Given the description of an element on the screen output the (x, y) to click on. 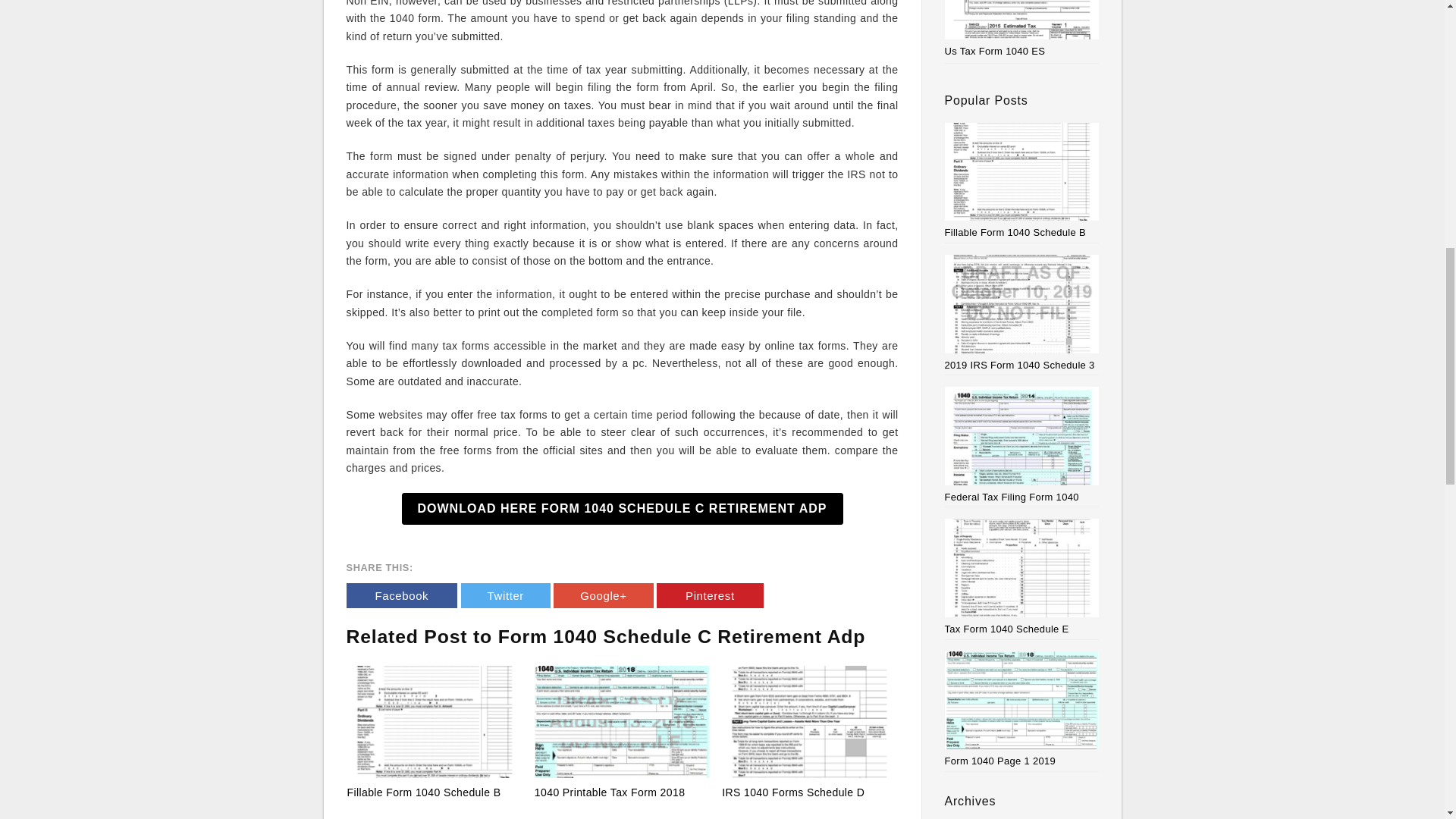
DOWNLOAD HERE FORM 1040 SCHEDULE C RETIREMENT ADP (622, 508)
Facebook (401, 595)
Fillable Form 1040 Schedule B (434, 721)
Fillable Form 1040 Schedule B (1021, 180)
Fillable Form 1040 Schedule B (423, 792)
IRS 1040 Forms Schedule D (793, 792)
1040 Printable Tax Form 2018 (609, 792)
Federal Tax Filing Form 1040 (1021, 444)
DOWNLOAD HERE FORM 1040 SCHEDULE C RETIREMENT ADP (622, 508)
Fillable Form 1040 Schedule B (1021, 180)
Federal Tax Filing Form 1040 (1021, 444)
Twitter (505, 595)
1040 Printable Tax Form 2018 (609, 792)
Us Tax Form 1040 ES (994, 50)
Tax Form 1040 Schedule E (1021, 576)
